Given the description of an element on the screen output the (x, y) to click on. 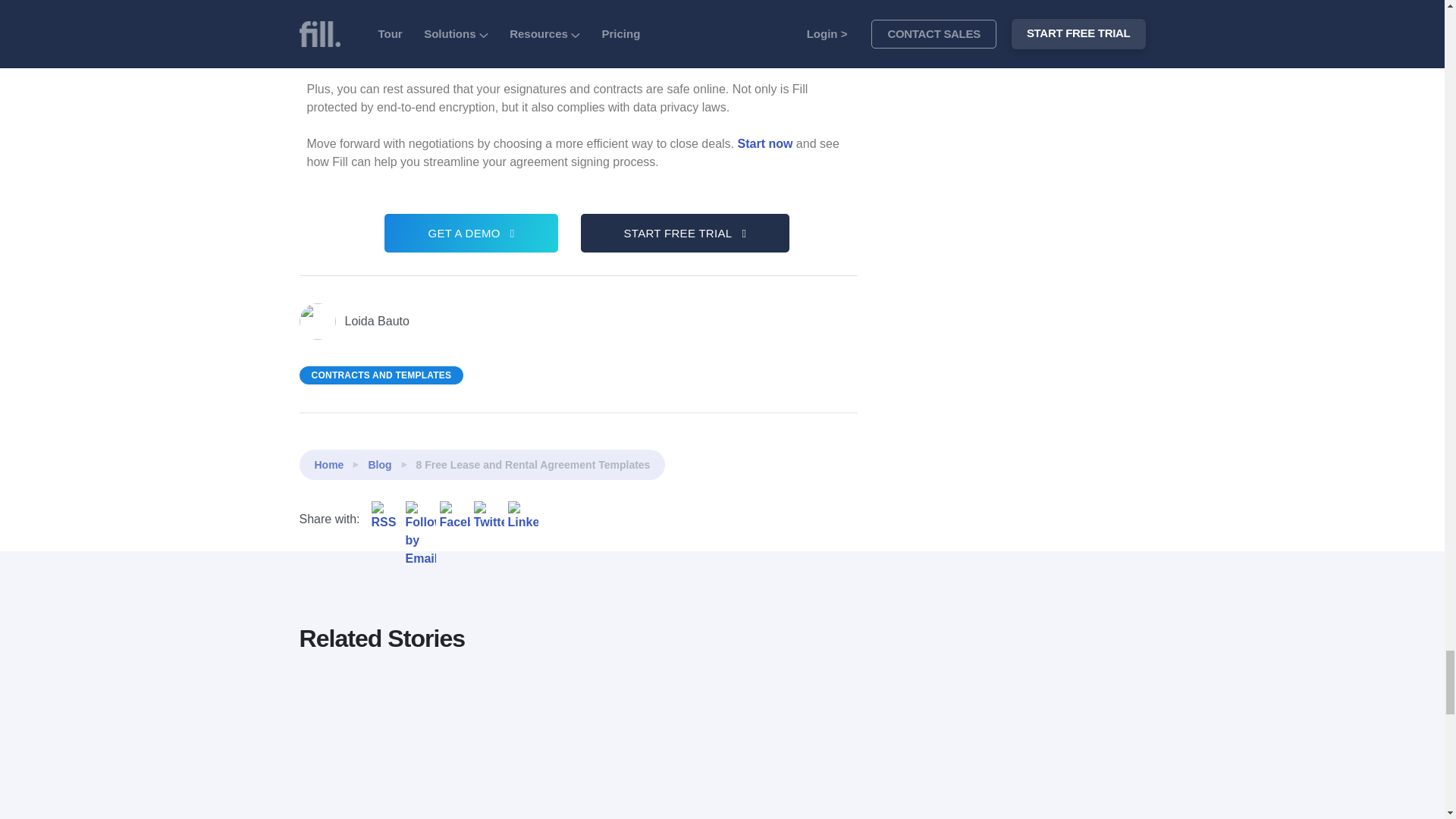
LinkedIn (523, 516)
Facebook (454, 516)
RSS (386, 516)
Twitter (488, 516)
